Given the description of an element on the screen output the (x, y) to click on. 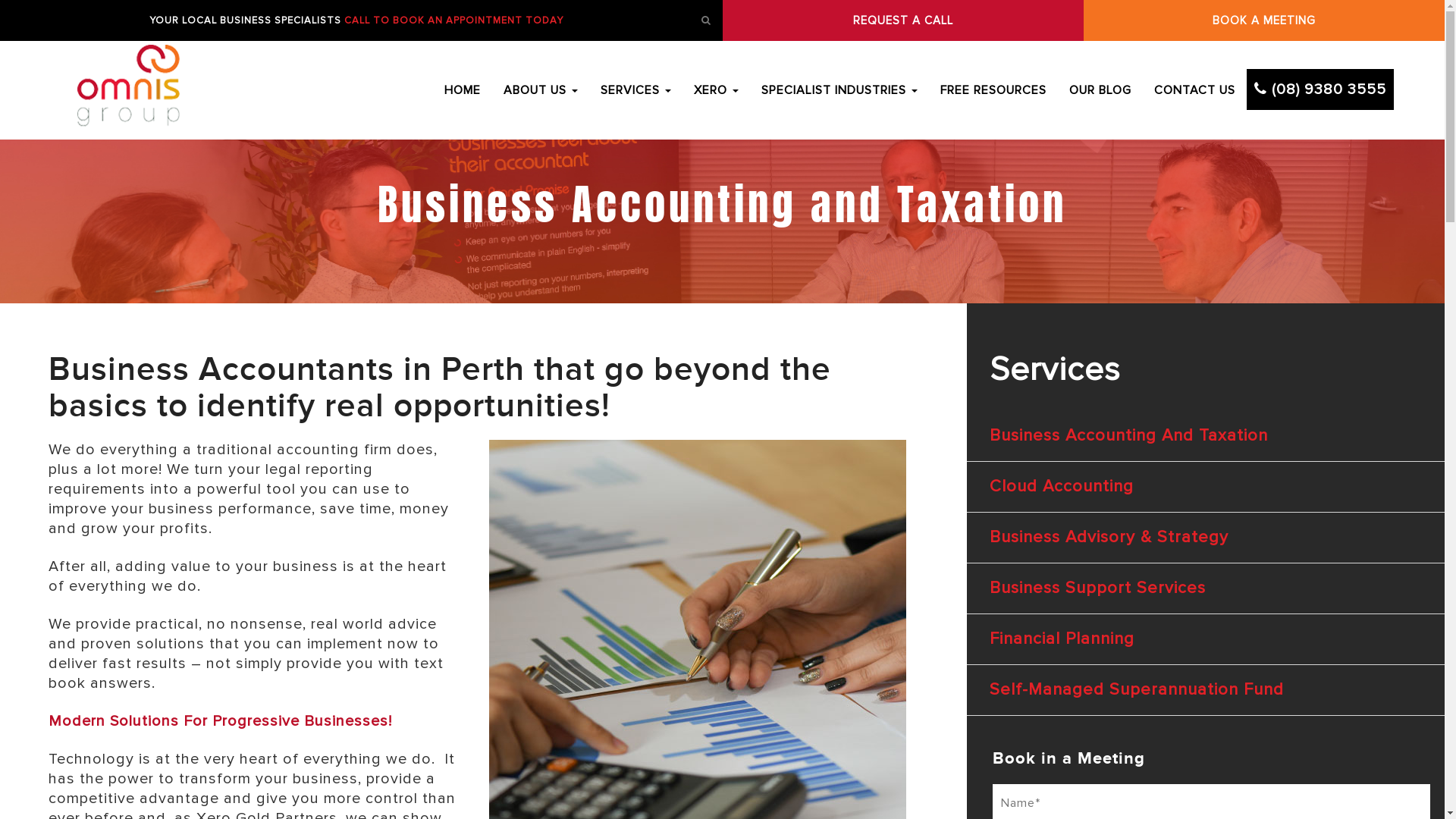
(08) 9380 3555 Element type: text (1319, 89)
CALL TO BOOK AN APPOINTMENT TODAY Element type: text (453, 20)
SPECIALIST INDUSTRIES Element type: text (838, 90)
CONTACT US Element type: text (1194, 90)
BOOK A MEETING Element type: text (1263, 20)
Omnis Group Element type: hover (128, 89)
SERVICES Element type: text (635, 90)
XERO Element type: text (715, 90)
REQUEST A CALL Element type: text (901, 20)
FREE RESOURCES Element type: text (992, 90)
ABOUT US Element type: text (540, 90)
HOME Element type: text (462, 90)
OUR BLOG Element type: text (1099, 90)
